Given the description of an element on the screen output the (x, y) to click on. 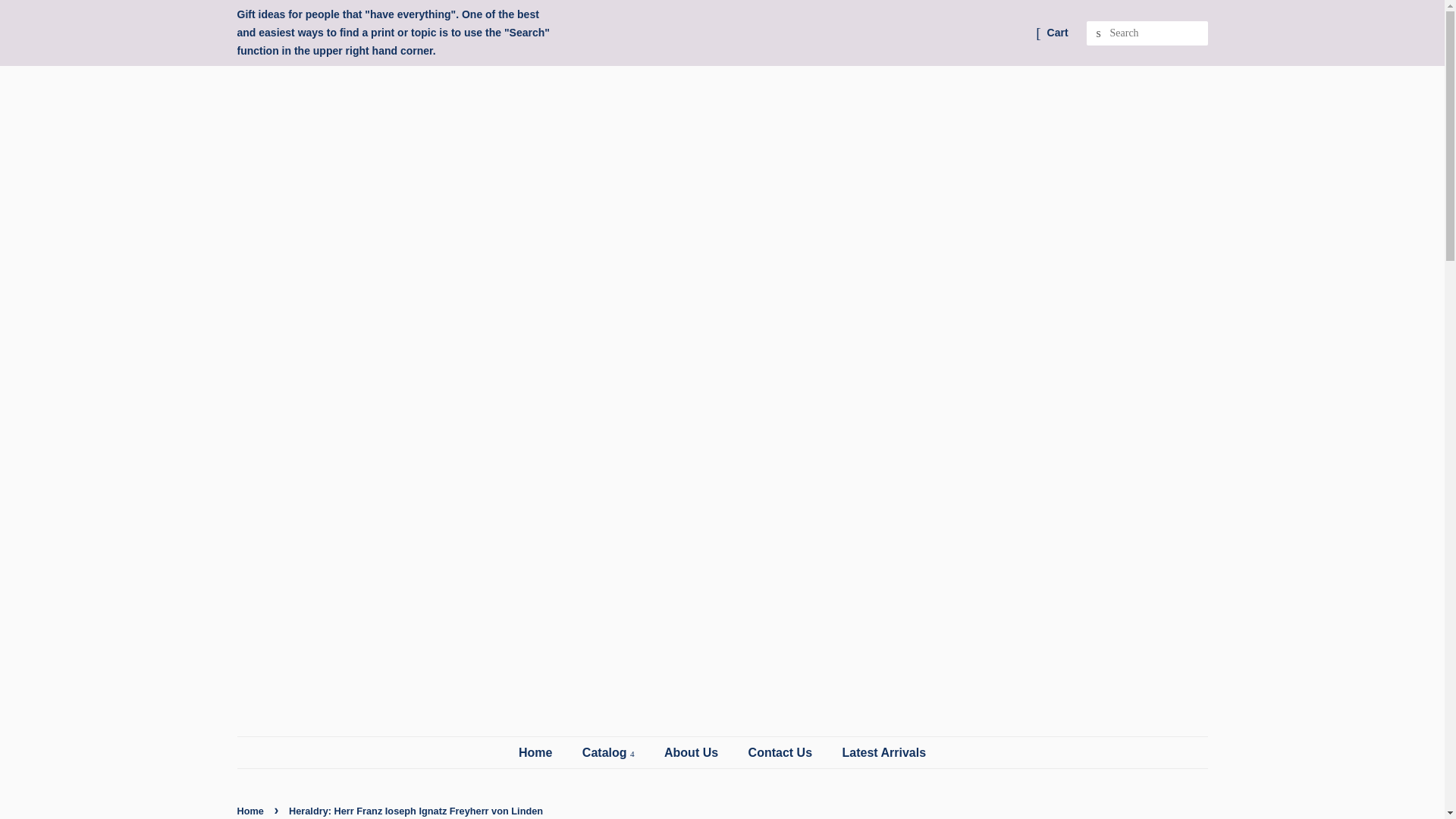
Search (1097, 33)
Cart (1057, 33)
Back to the frontpage (250, 810)
